Given the description of an element on the screen output the (x, y) to click on. 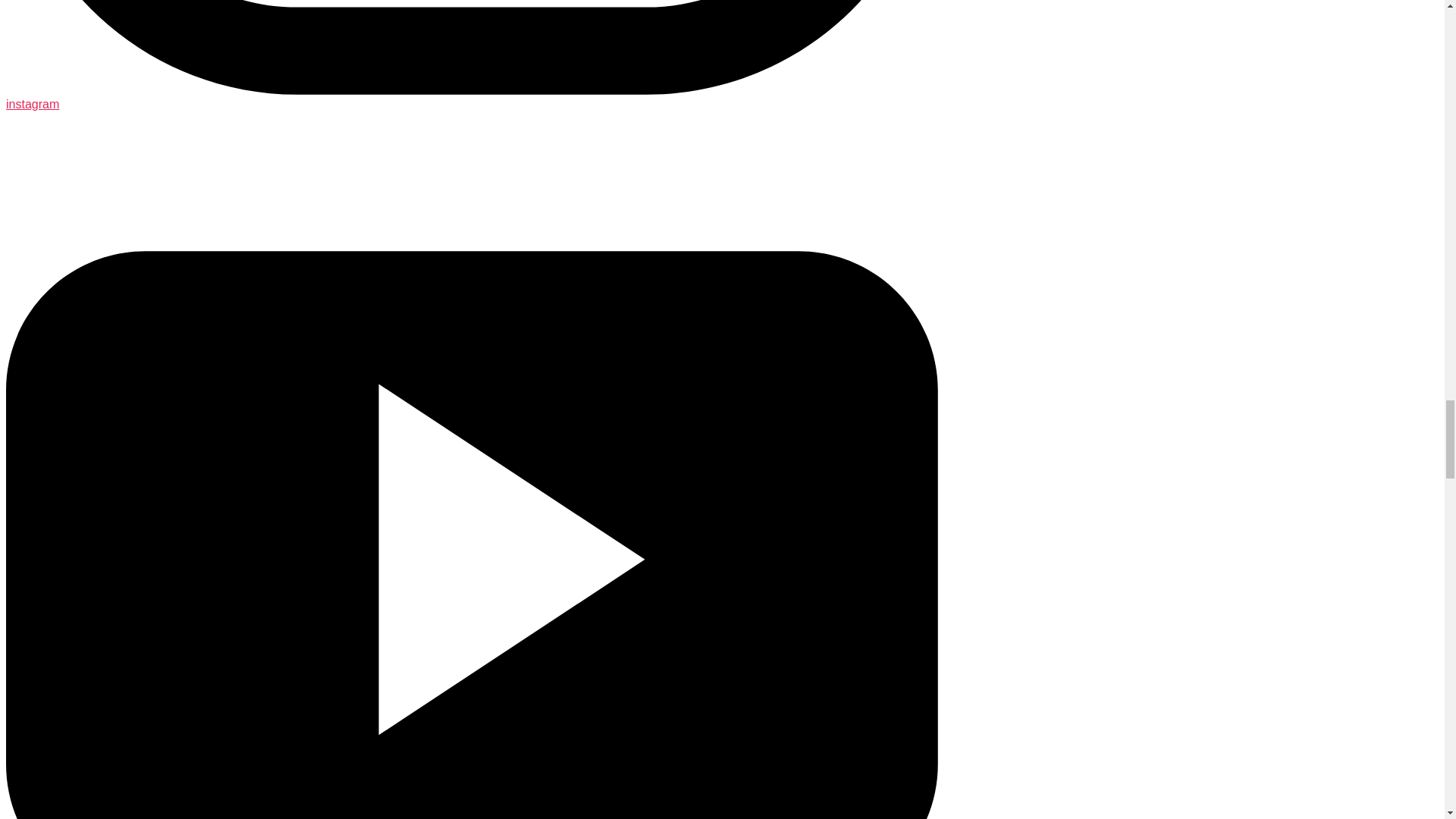
instagram (471, 97)
